Given the description of an element on the screen output the (x, y) to click on. 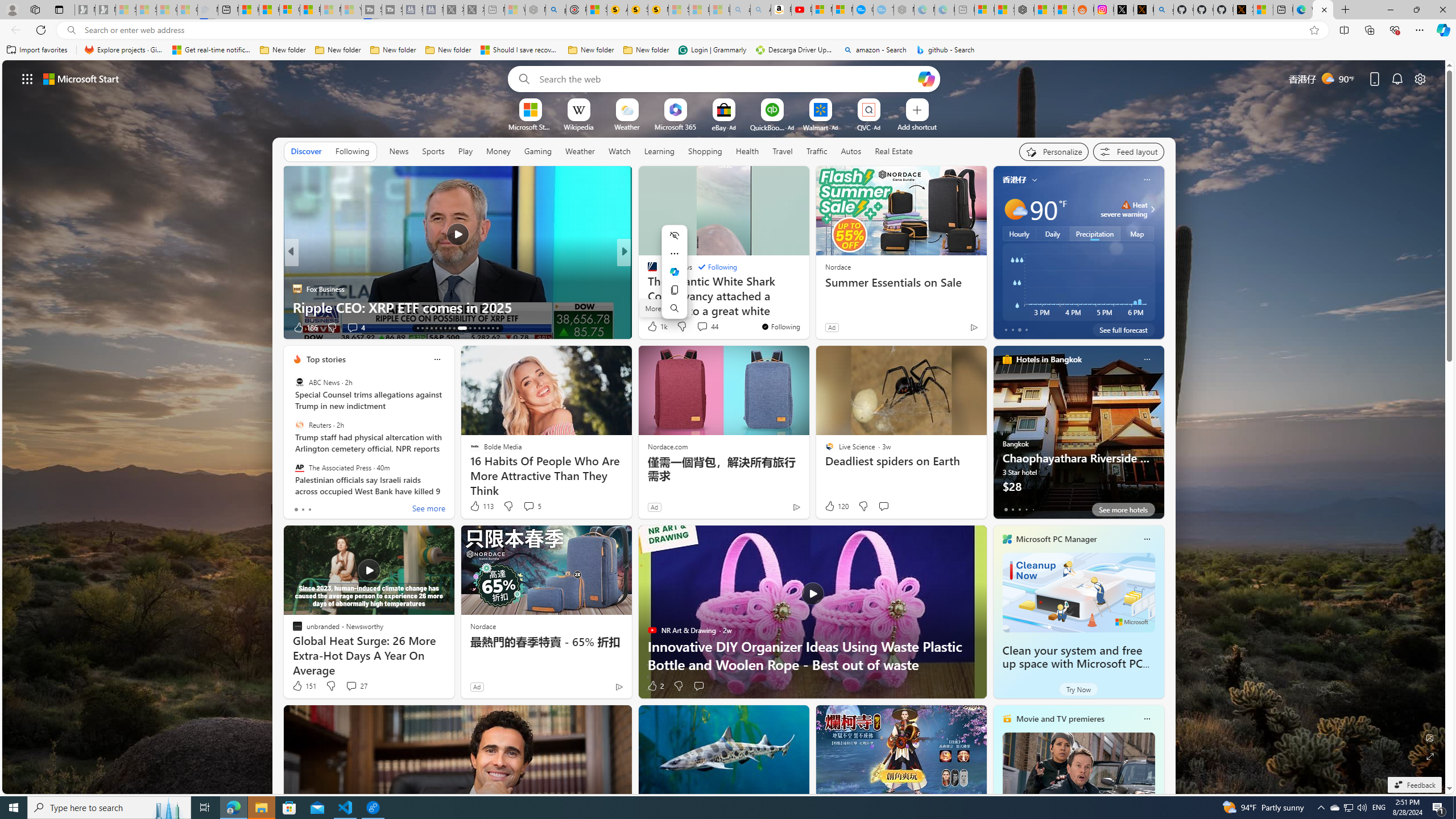
Autos (851, 151)
Tribune News Service (647, 270)
The Kanso (647, 270)
Discover (306, 151)
Gaming (537, 151)
Feedback (1414, 784)
News (398, 151)
Minimize (1390, 9)
Traffic (816, 151)
amazon - Search (875, 49)
AutomationID: tab-13 (417, 328)
Play (465, 151)
5 Like (651, 327)
Following (716, 266)
